Given the description of an element on the screen output the (x, y) to click on. 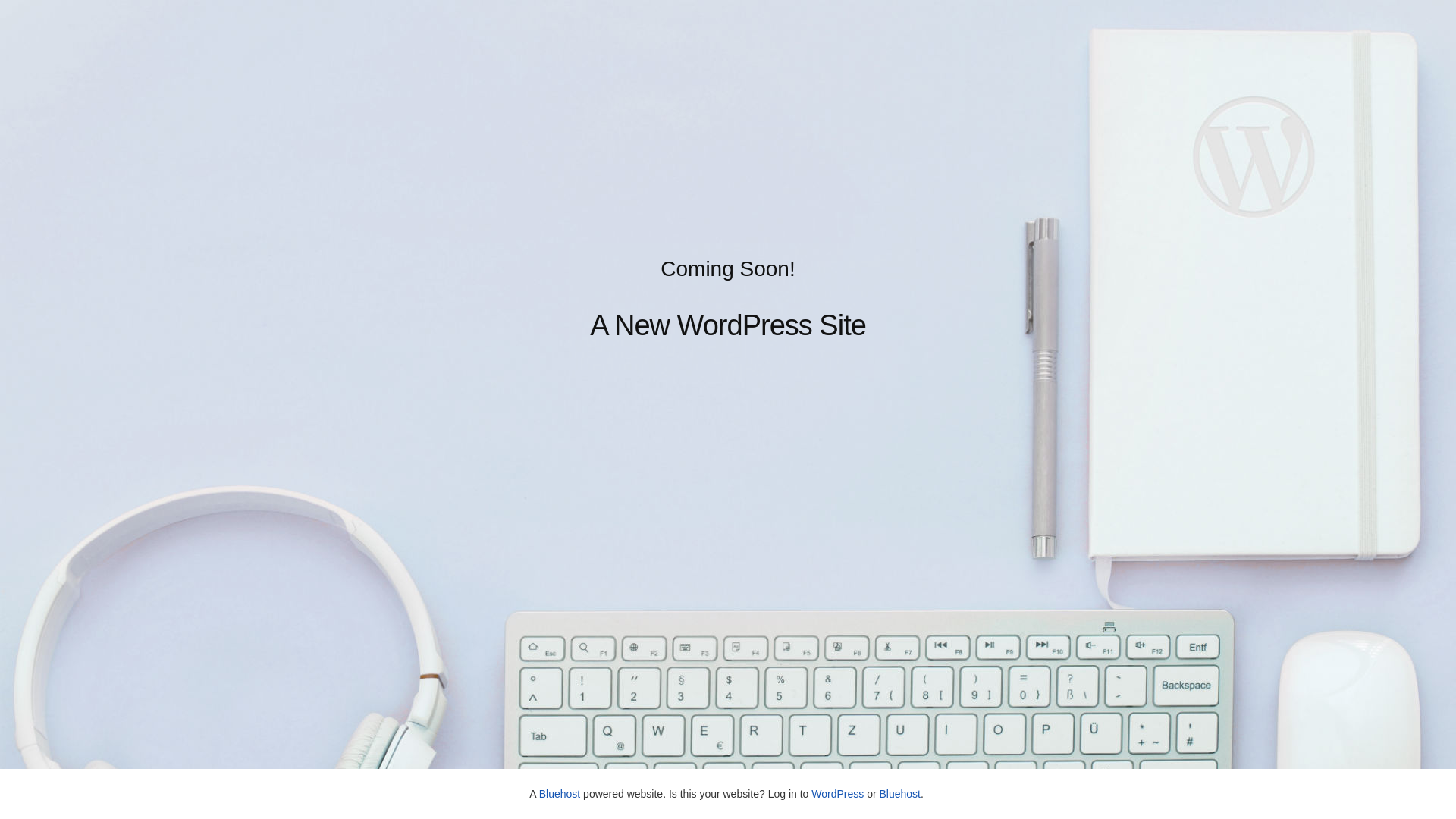
Bluehost Element type: text (898, 793)
WordPress Element type: text (837, 793)
Bluehost Element type: text (559, 793)
